Given the description of an element on the screen output the (x, y) to click on. 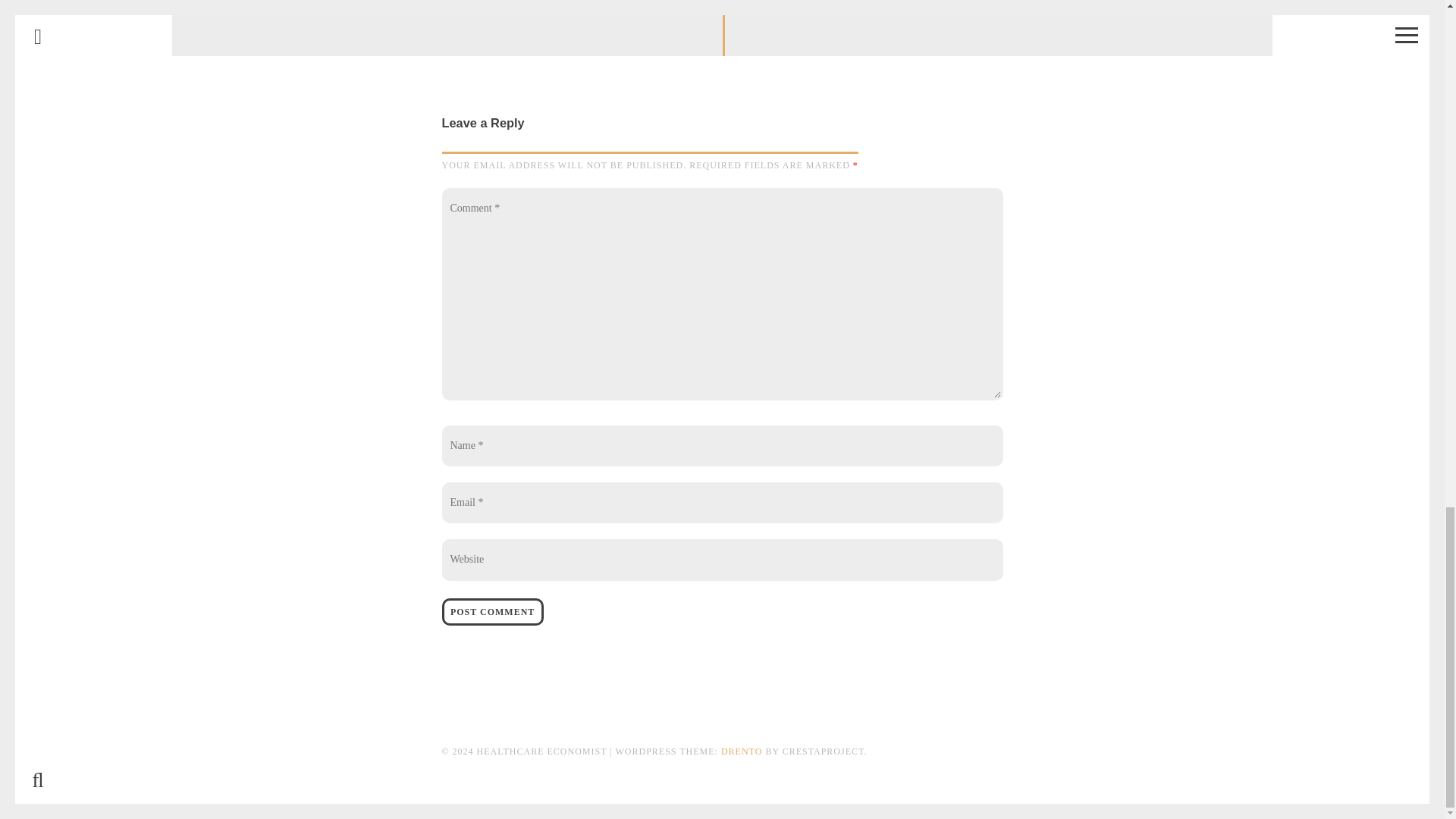
Post Comment (998, 28)
Post Comment (492, 611)
